Given the description of an element on the screen output the (x, y) to click on. 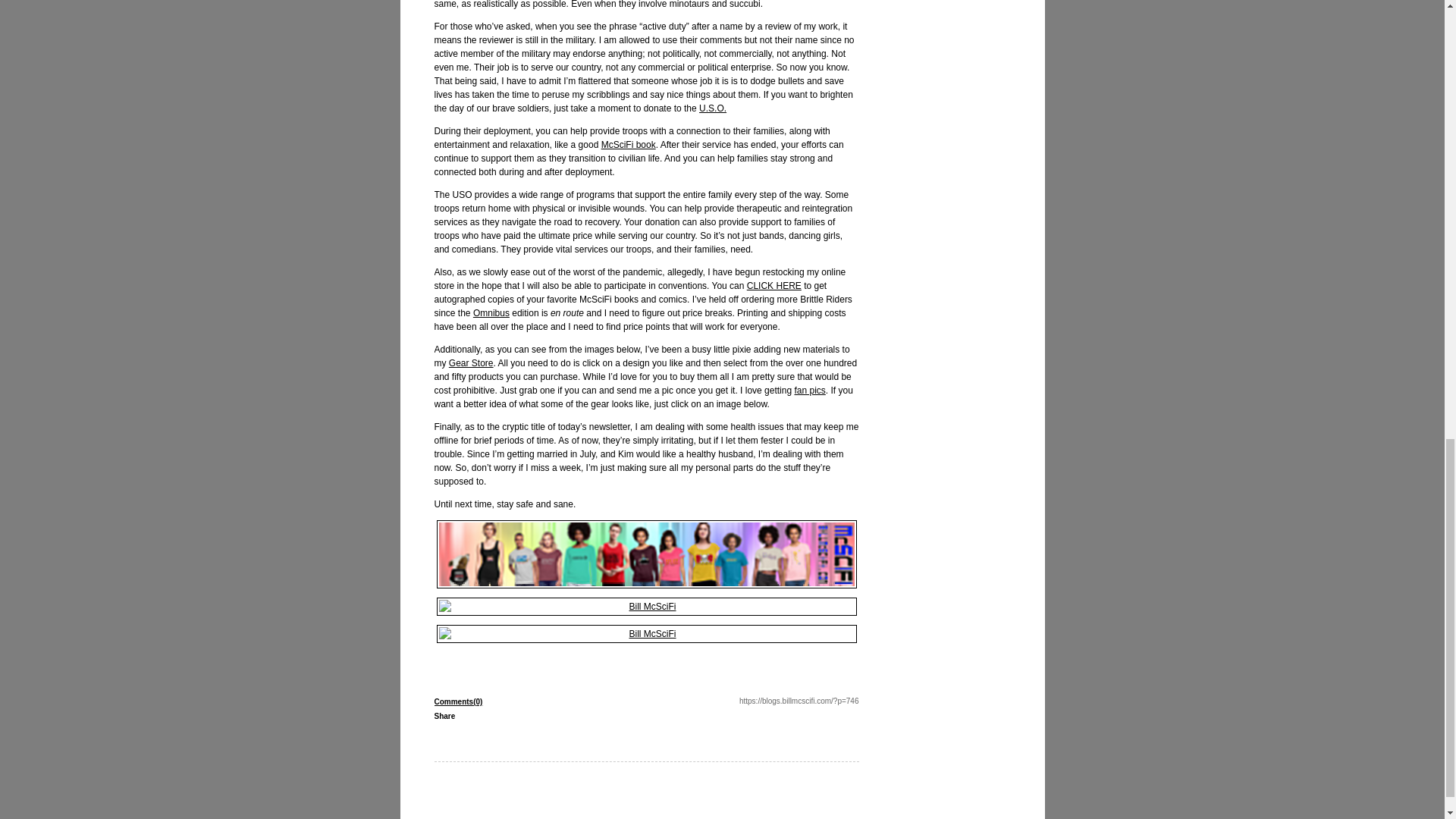
CLICK HERE (774, 285)
Omnibus (491, 312)
McSciFi book (628, 144)
U.S.O. (712, 108)
Gear Store (470, 362)
Share (443, 715)
fan pics (809, 389)
